Given the description of an element on the screen output the (x, y) to click on. 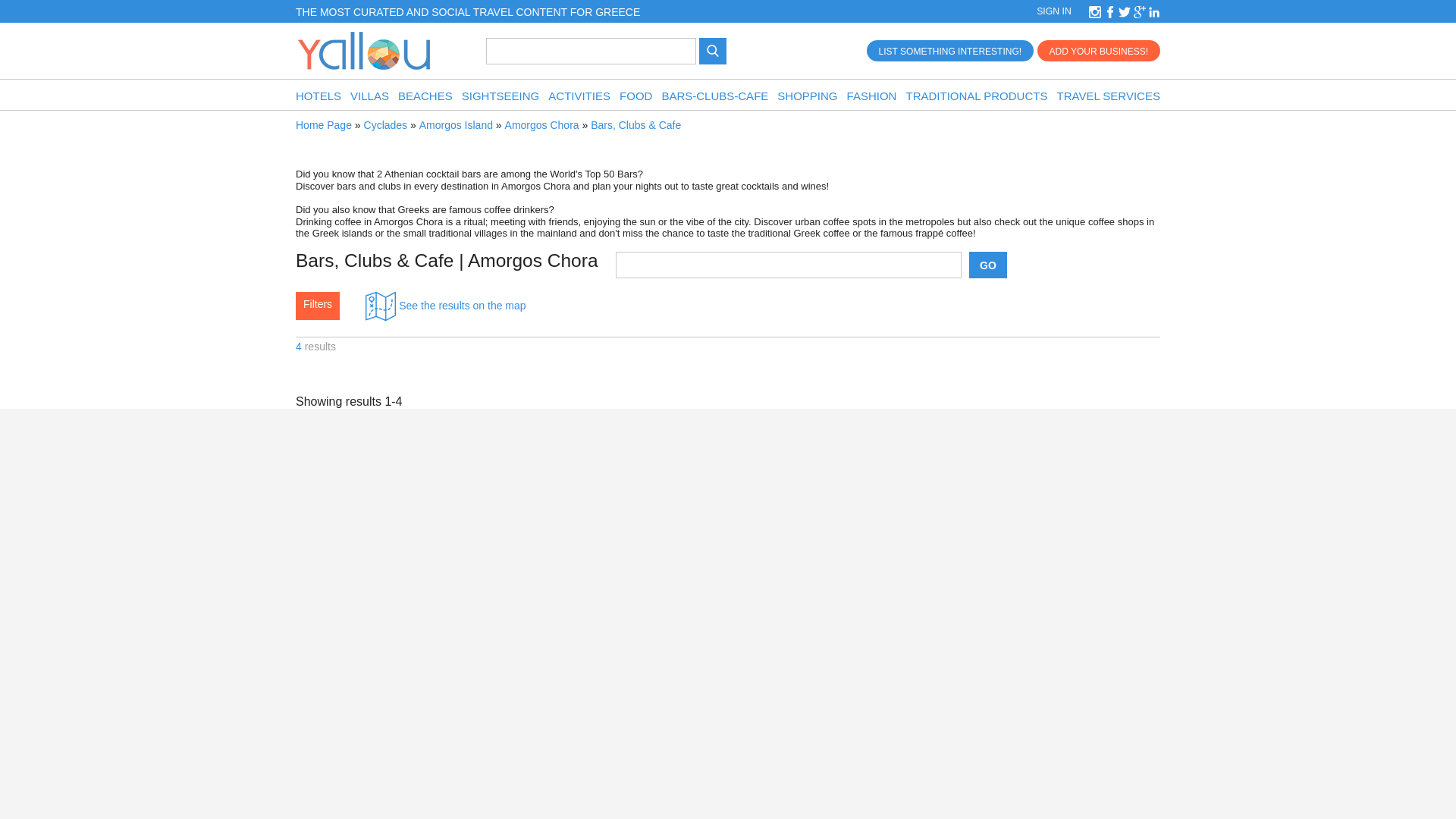
Home Page (323, 124)
Amorgos Chora (542, 124)
GO (988, 264)
SIGN IN (1053, 10)
Filters (317, 305)
SIGHTSEEING (500, 95)
Amorgos Island (456, 124)
TRAVEL SERVICES (1108, 95)
VILLAS (369, 95)
Another Destination? (787, 264)
